Given the description of an element on the screen output the (x, y) to click on. 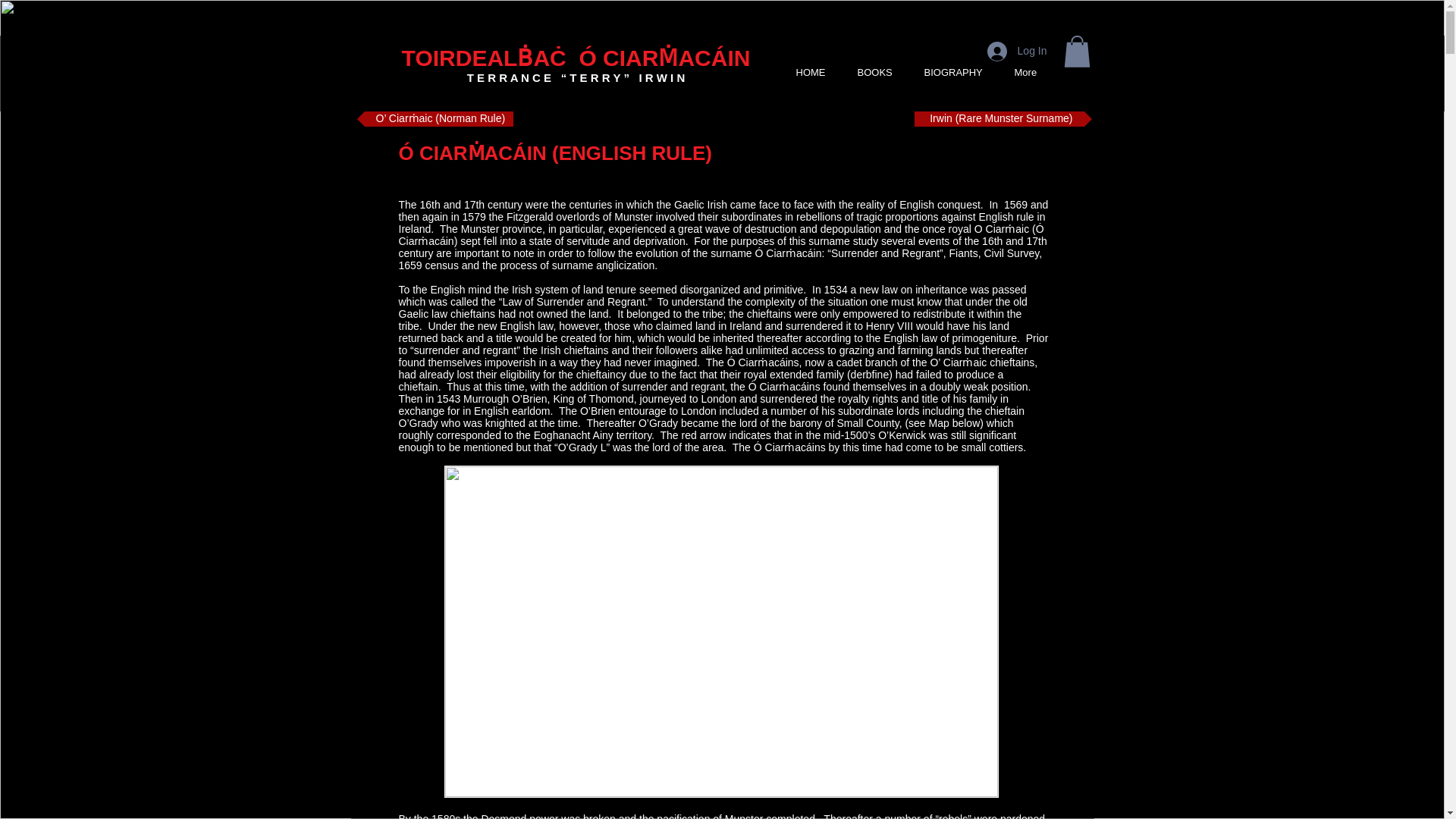
BIOGRAPHY (960, 72)
Log In (1017, 51)
BOOKS (881, 72)
HOME (817, 72)
